Given the description of an element on the screen output the (x, y) to click on. 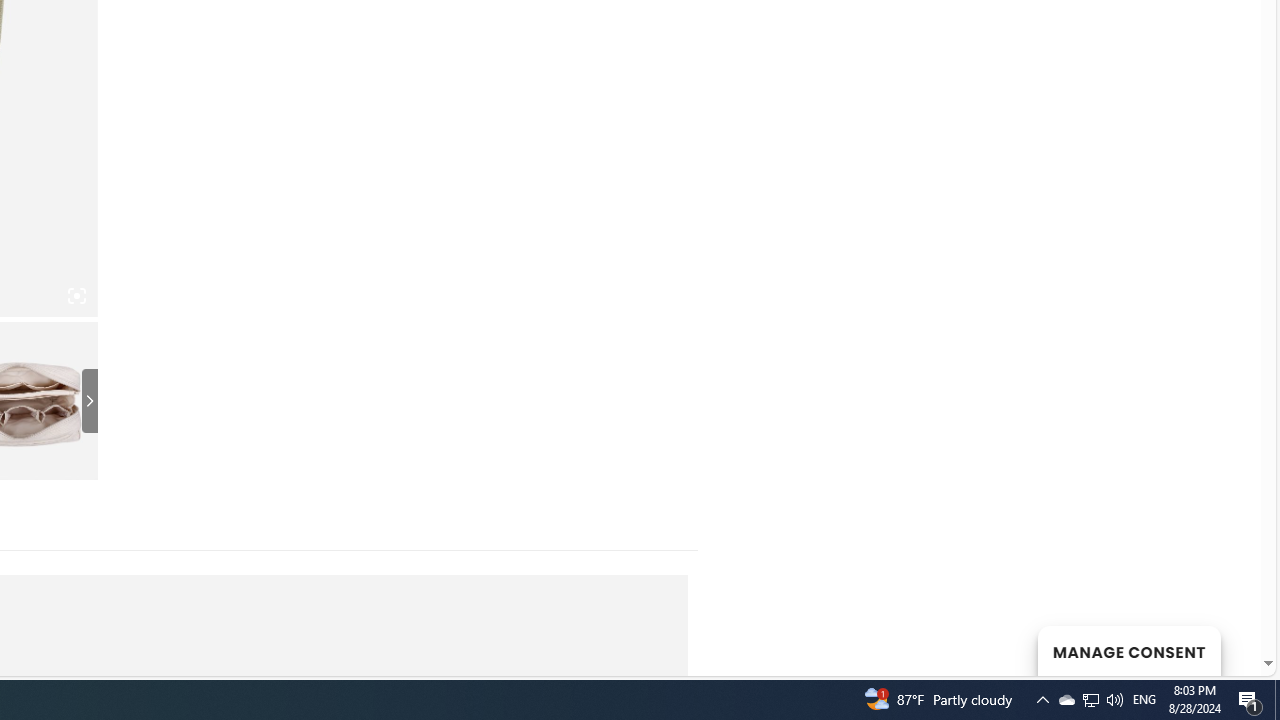
MANAGE CONSENT (1128, 650)
Class: iconic-woothumbs-fullscreen (75, 296)
